Given the description of an element on the screen output the (x, y) to click on. 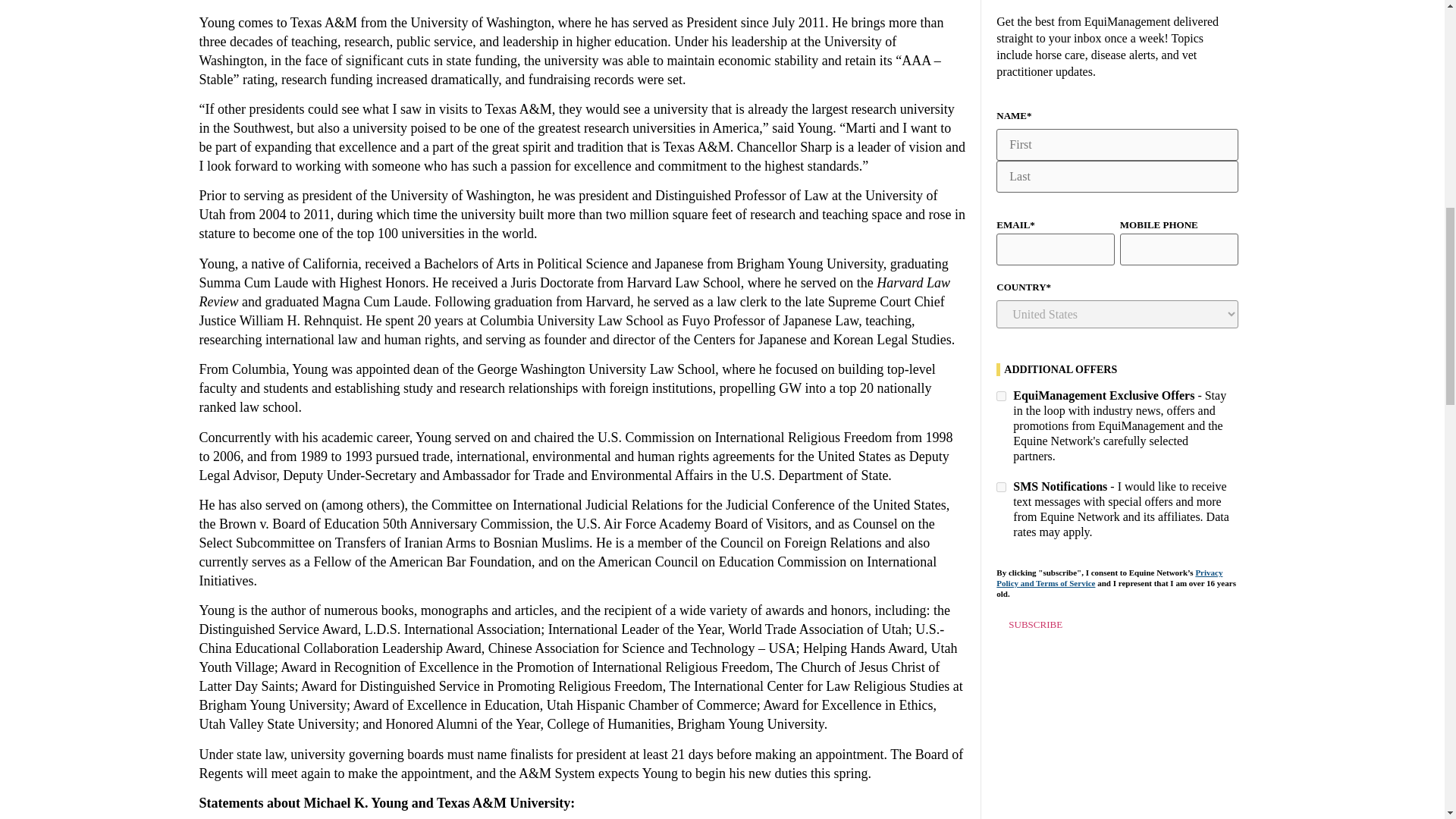
SMS Notifications (1000, 487)
157be729-a691-4459-9ca3-c1f10a60b90e (1000, 396)
Subscribe (1034, 624)
